Given the description of an element on the screen output the (x, y) to click on. 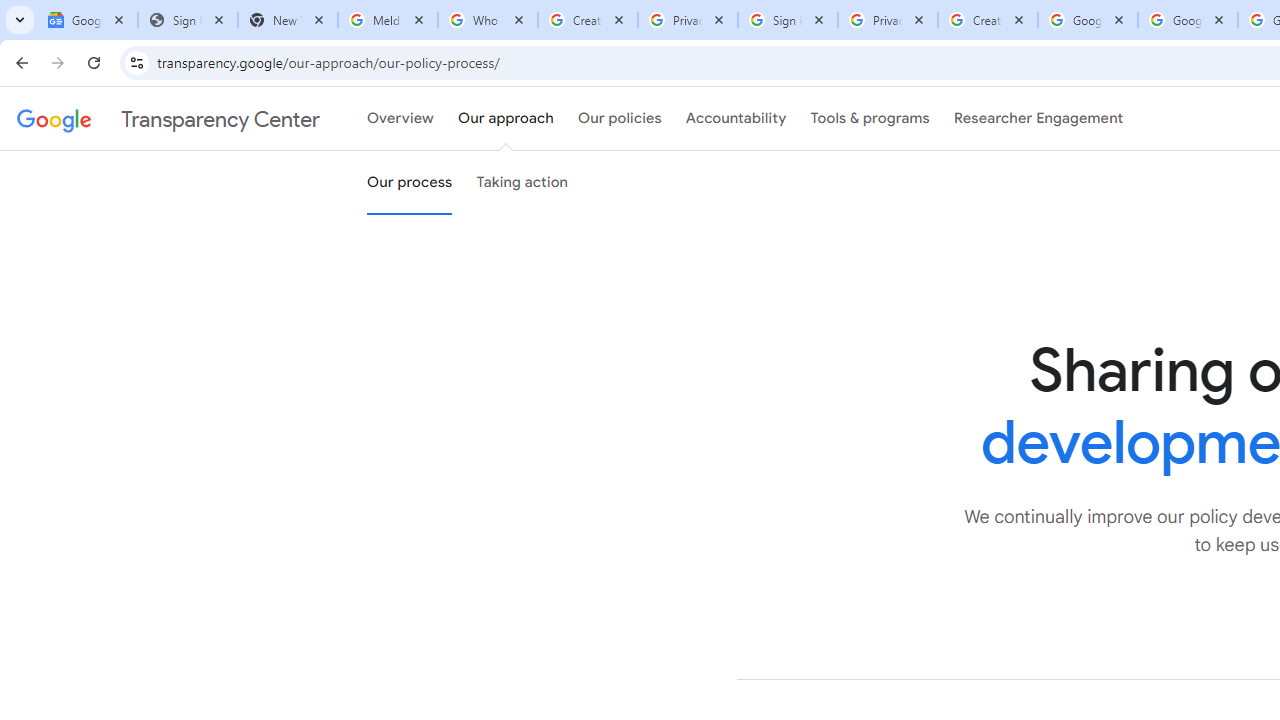
Researcher Engagement (1038, 119)
Sign in - Google Accounts (788, 20)
New Tab (287, 20)
Google News (87, 20)
Create your Google Account (587, 20)
Our approach (506, 119)
Sign In - USA TODAY (188, 20)
